Given the description of an element on the screen output the (x, y) to click on. 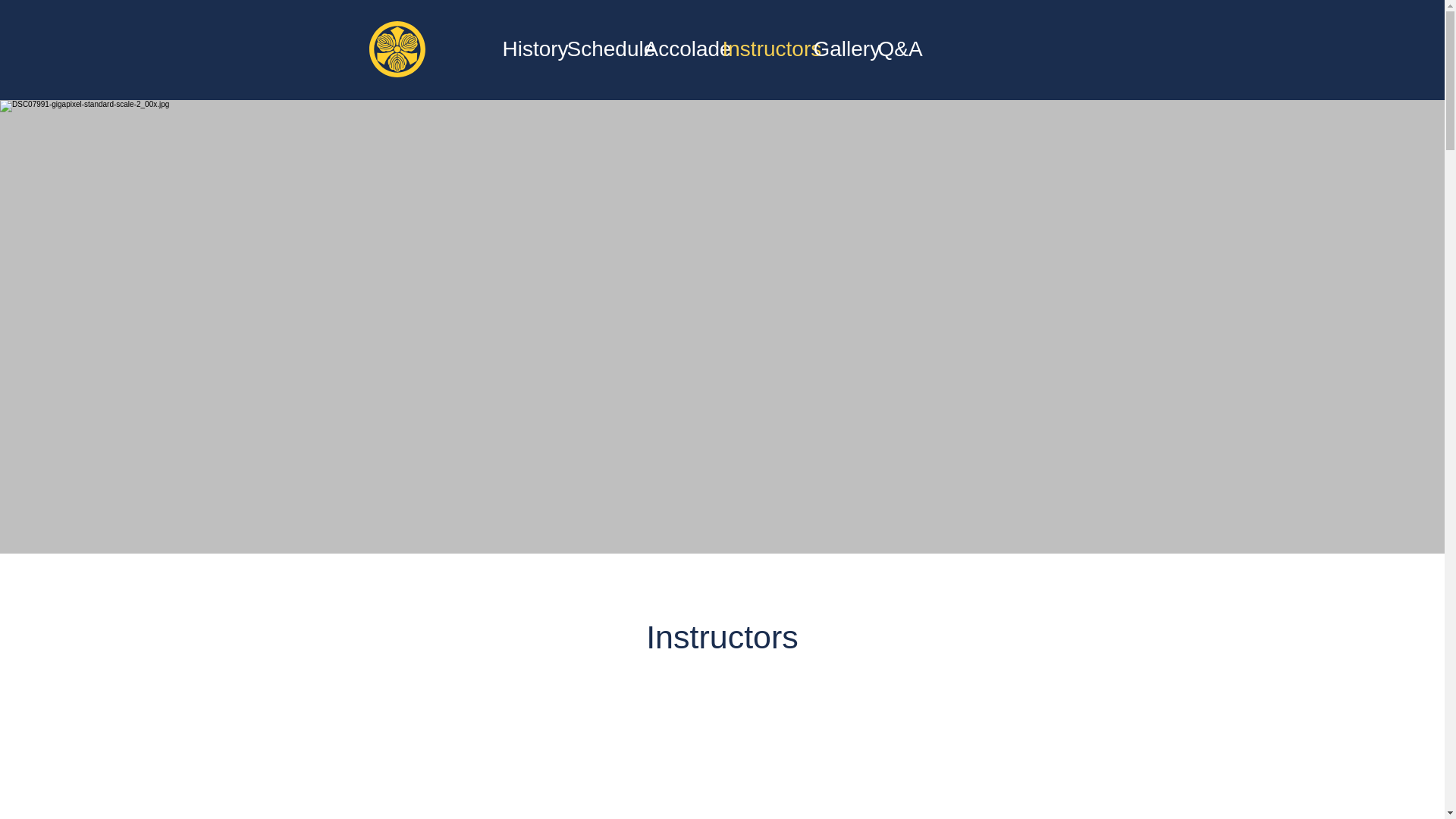
History (527, 48)
Schedule (598, 48)
Accolade (675, 48)
Gallery (837, 48)
Instructors (759, 48)
